Given the description of an element on the screen output the (x, y) to click on. 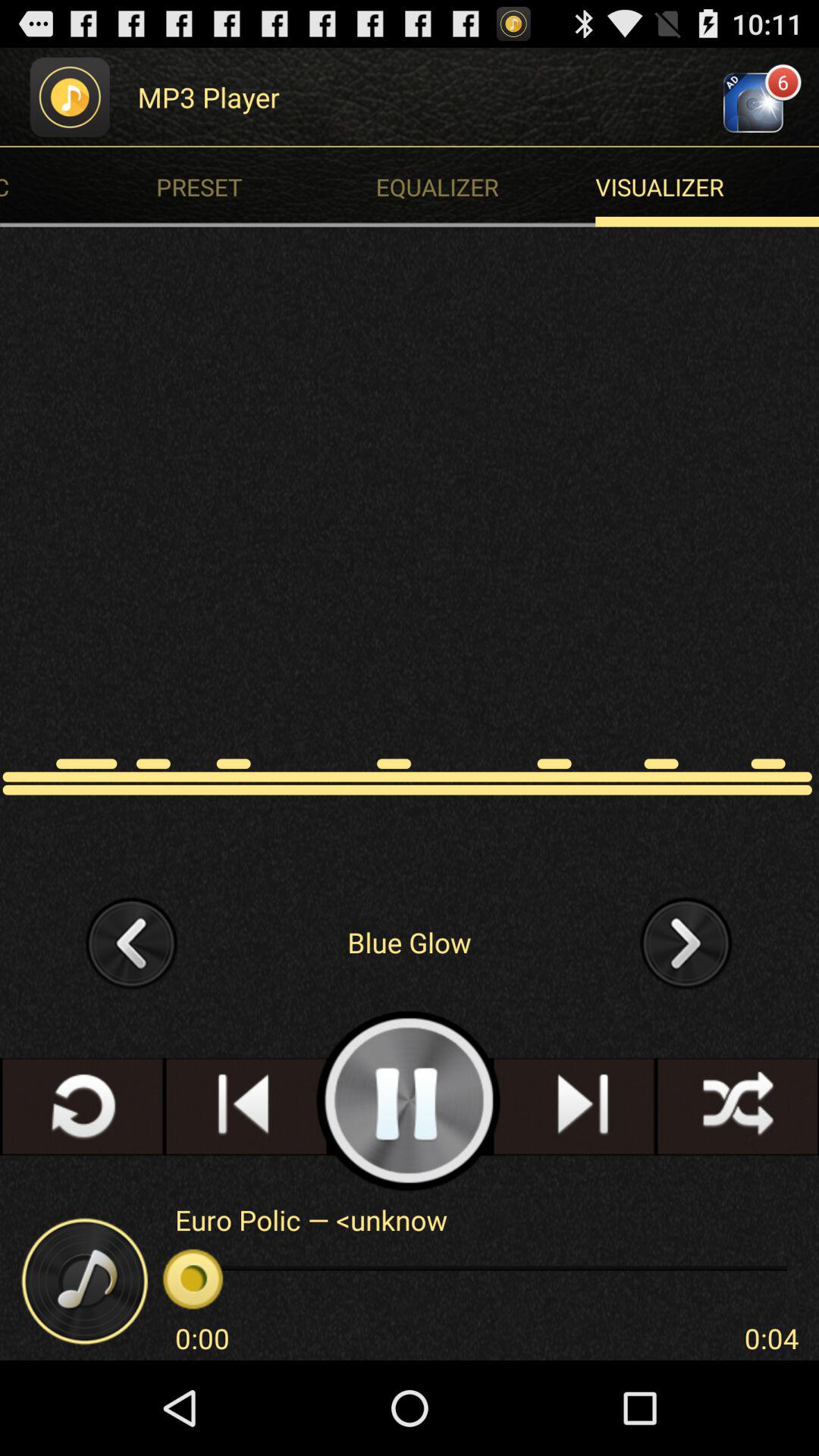
open the app below the blue glow item (408, 1101)
